Given the description of an element on the screen output the (x, y) to click on. 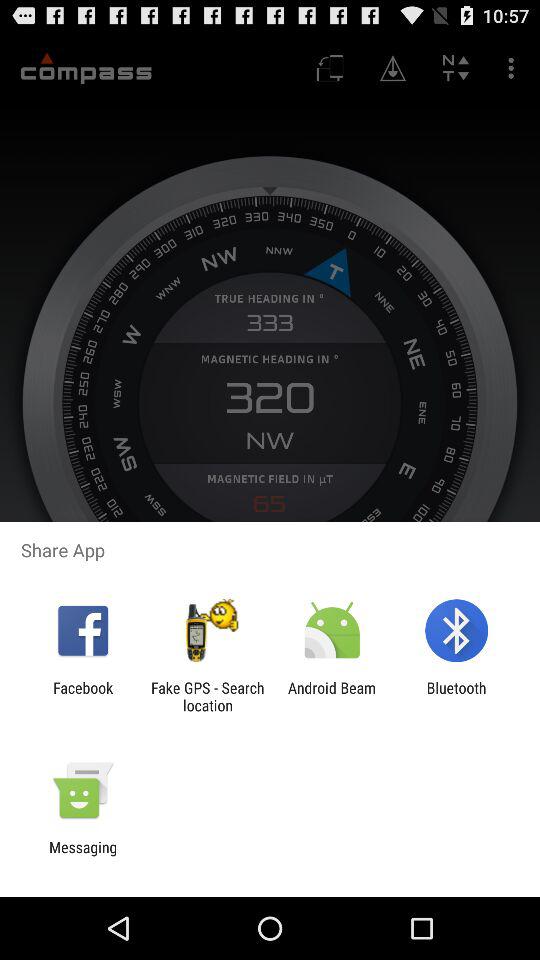
scroll until the bluetooth item (456, 696)
